Given the description of an element on the screen output the (x, y) to click on. 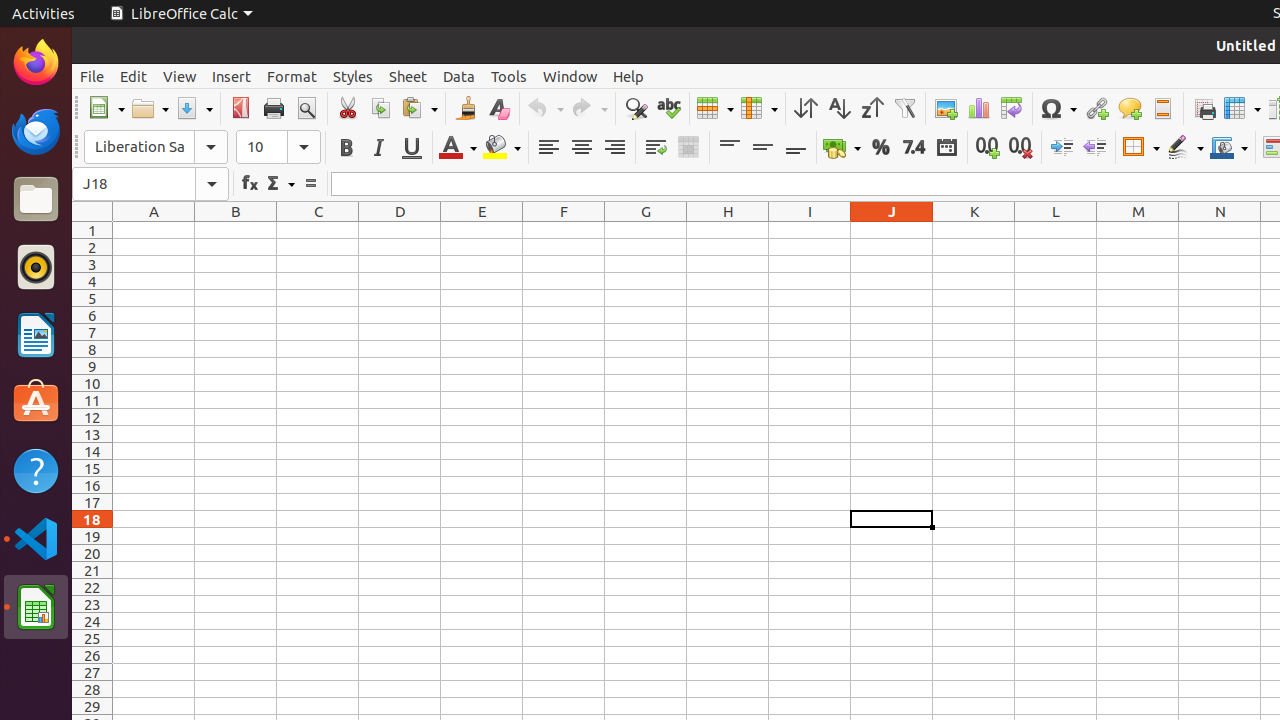
File Element type: menu (92, 76)
Align Center Element type: push-button (581, 147)
Insert Element type: menu (231, 76)
Cut Element type: push-button (347, 108)
Font Name Element type: text (139, 147)
